Given the description of an element on the screen output the (x, y) to click on. 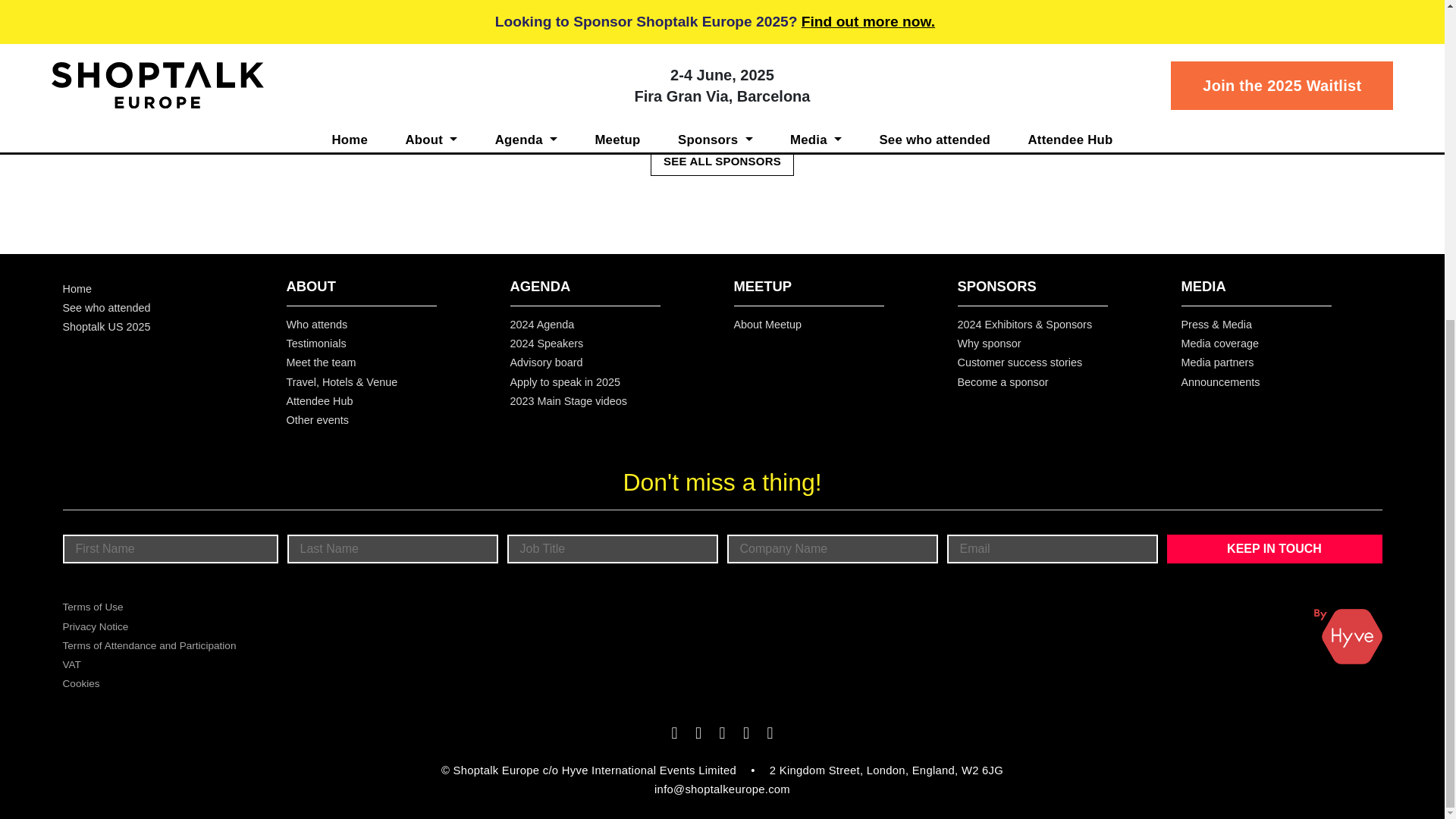
Youtube (617, 71)
Facebook (544, 71)
Keep In Touch (1273, 548)
LinkedIn (592, 71)
X (569, 71)
